Given the description of an element on the screen output the (x, y) to click on. 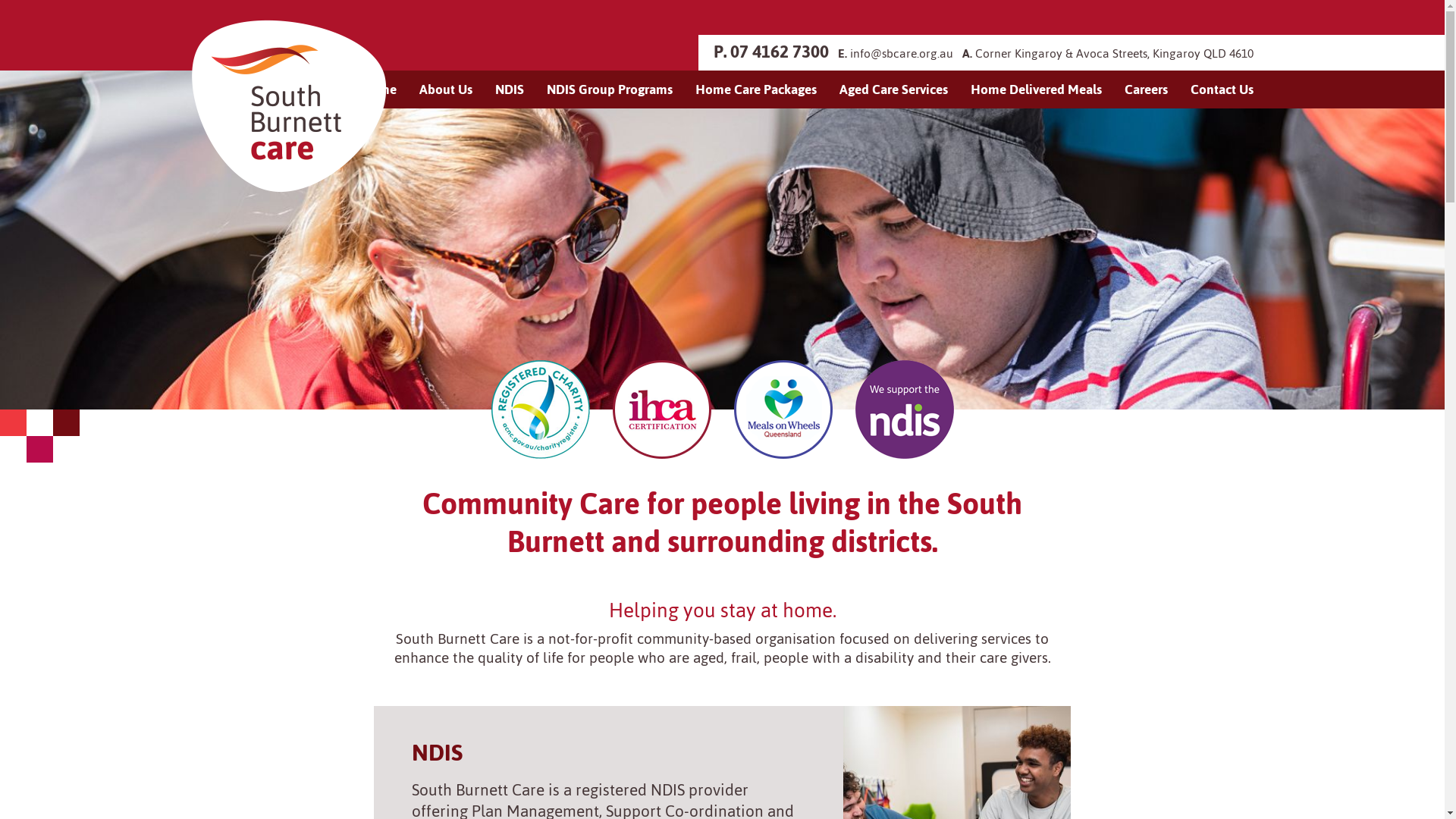
Careers Element type: text (1146, 89)
07 4162 7300 Element type: text (778, 51)
Home Element type: text (377, 89)
Corner Kingaroy & Avoca Streets, Kingaroy QLD 4610 Element type: text (1114, 53)
Aged Care Services Element type: text (893, 89)
Home Care Packages Element type: text (756, 89)
Contact Us Element type: text (1221, 89)
info@sbcare.org.au Element type: text (900, 53)
Home Delivered Meals Element type: text (1035, 89)
NDIS Element type: text (509, 89)
About Us Element type: text (445, 89)
NDIS Group Programs Element type: text (609, 89)
